Given the description of an element on the screen output the (x, y) to click on. 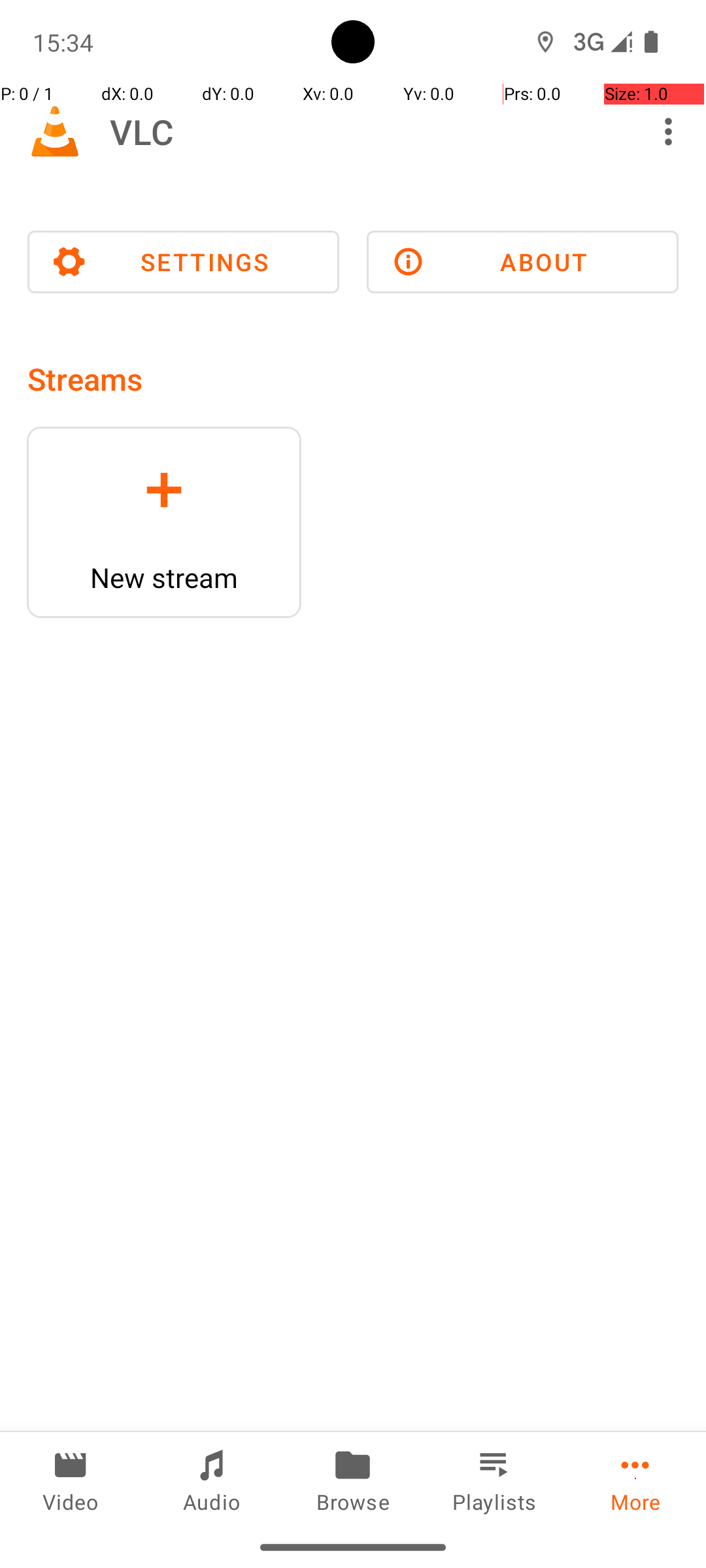
SETTINGS Element type: android.widget.Button (183, 261)
ABOUT Element type: android.widget.Button (522, 261)
Streams Element type: android.widget.TextView (84, 378)
Video Element type: android.widget.FrameLayout (70, 1478)
Browse Element type: android.widget.FrameLayout (352, 1478)
New stream Element type: android.widget.TextView (163, 576)
